Given the description of an element on the screen output the (x, y) to click on. 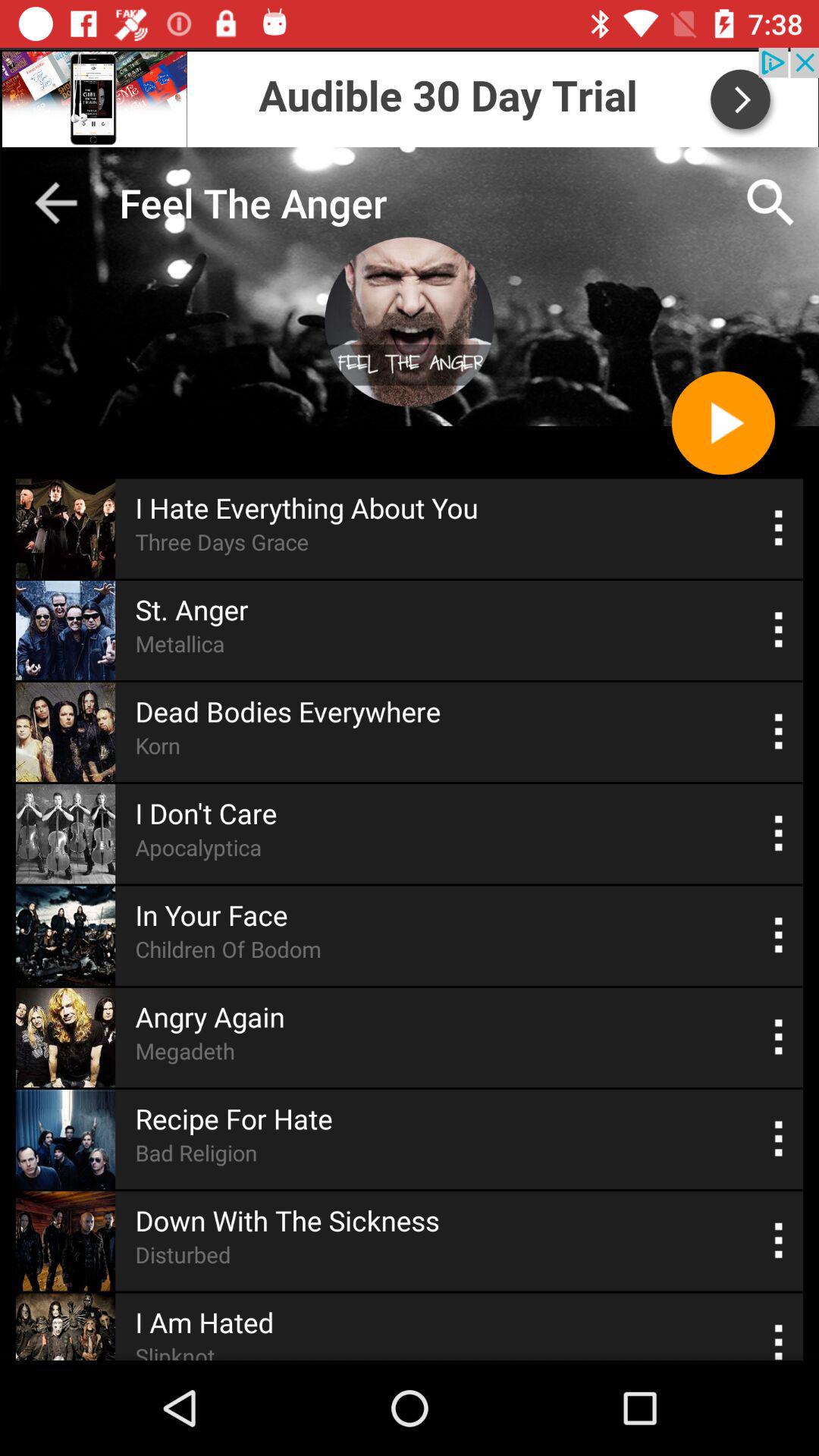
go to audible trial (409, 97)
